Given the description of an element on the screen output the (x, y) to click on. 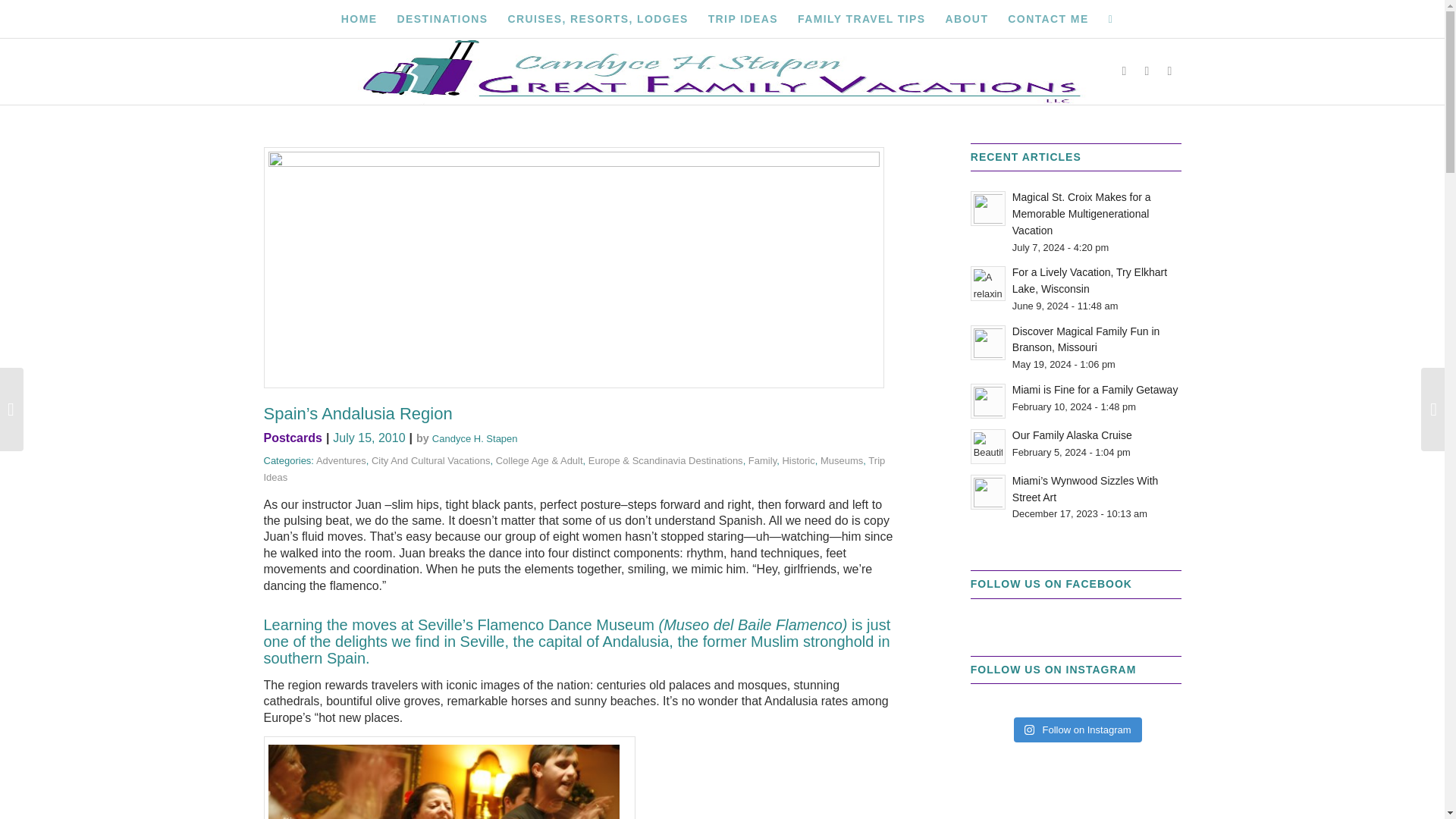
DESTINATIONS (442, 18)
great-family-vacactions-logo052021 (722, 70)
X (1146, 70)
HOME (359, 18)
Instagram (1169, 70)
Facebook (1124, 70)
Posts by Candyce H. Stapen (475, 438)
